Given the description of an element on the screen output the (x, y) to click on. 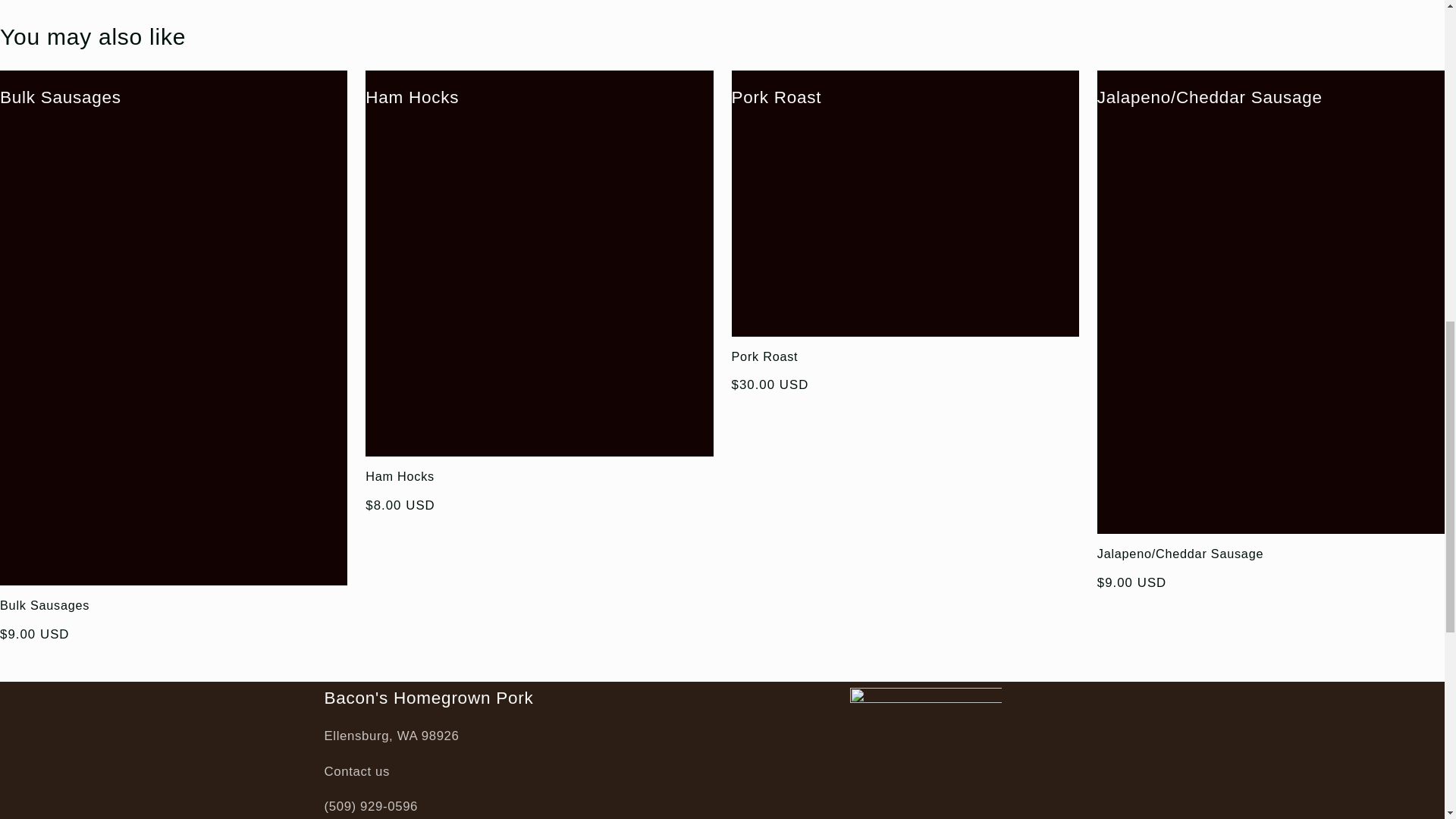
Bulk Sausages (60, 97)
Bulk Sausages (173, 604)
Ham Hocks (411, 97)
Ham Hocks (539, 476)
